Given the description of an element on the screen output the (x, y) to click on. 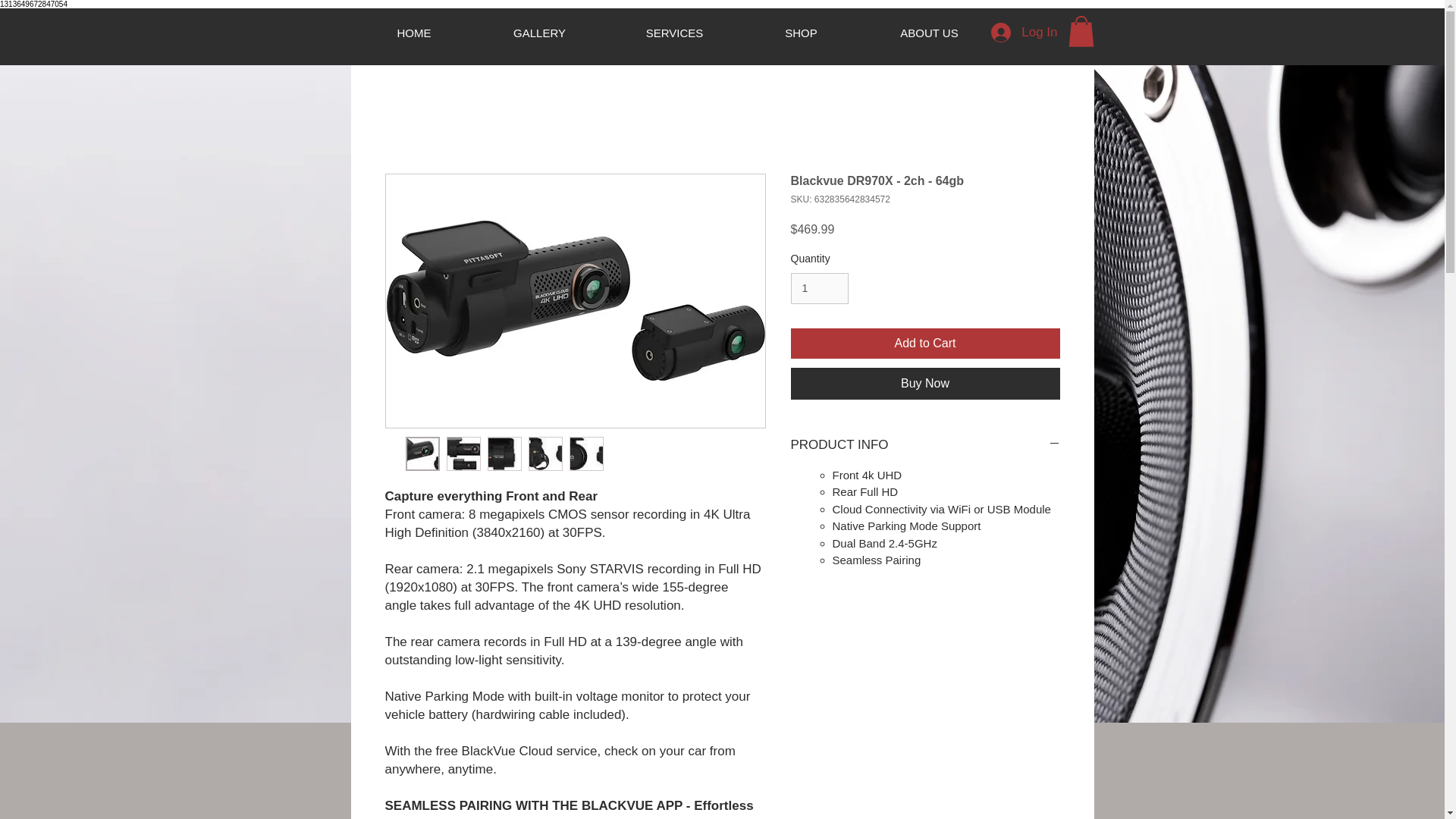
Log In (1023, 32)
Add to Cart (924, 343)
SHOP (801, 33)
HOME (413, 33)
PRODUCT INFO (924, 444)
1 (818, 287)
Buy Now (924, 383)
SERVICES (674, 33)
GALLERY (540, 33)
ABOUT US (929, 33)
